Given the description of an element on the screen output the (x, y) to click on. 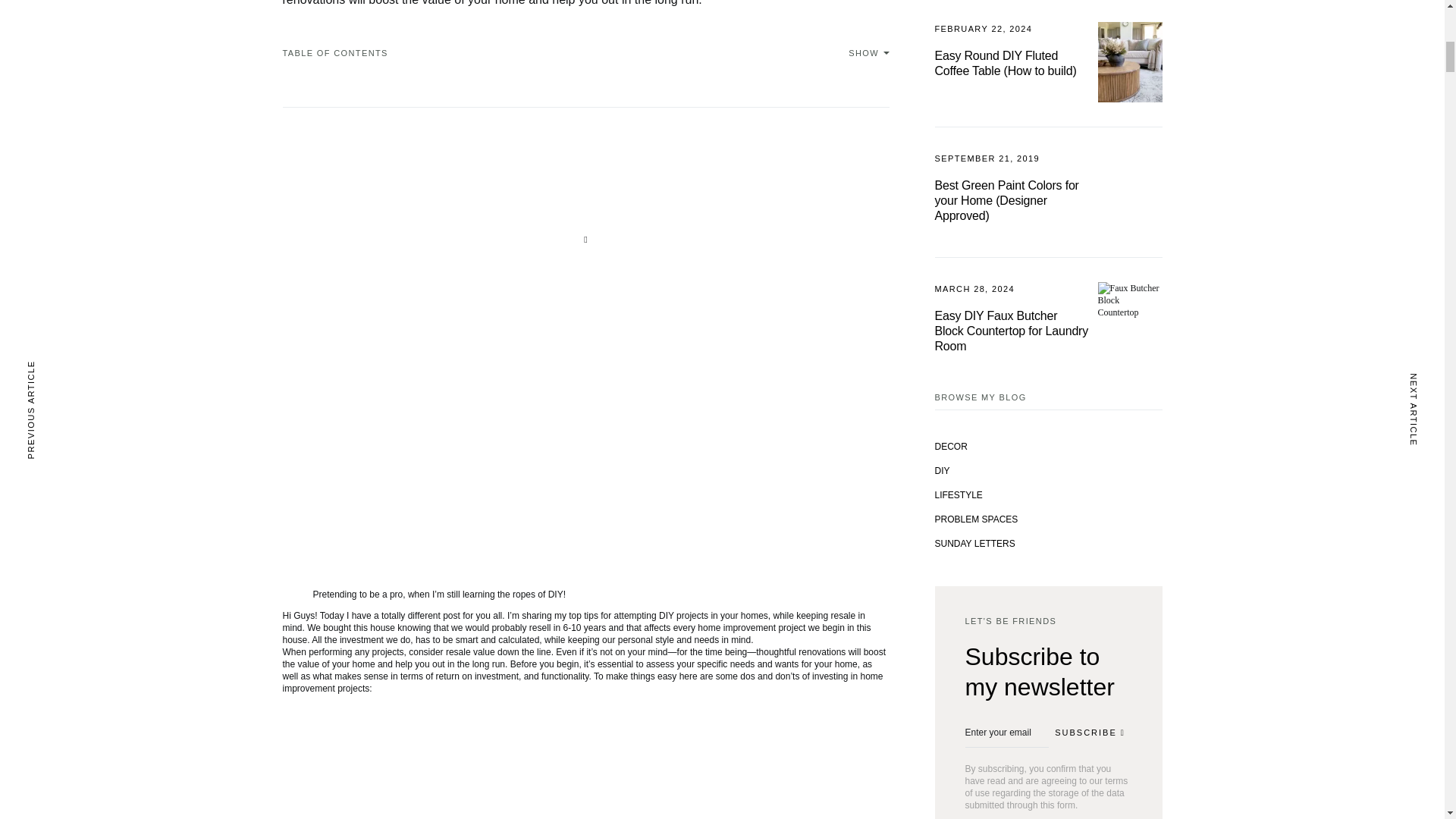
Easy DIY Faux Butcher Block Countertop for Laundry Room (1010, 345)
Enter your email (1005, 732)
